Given the description of an element on the screen output the (x, y) to click on. 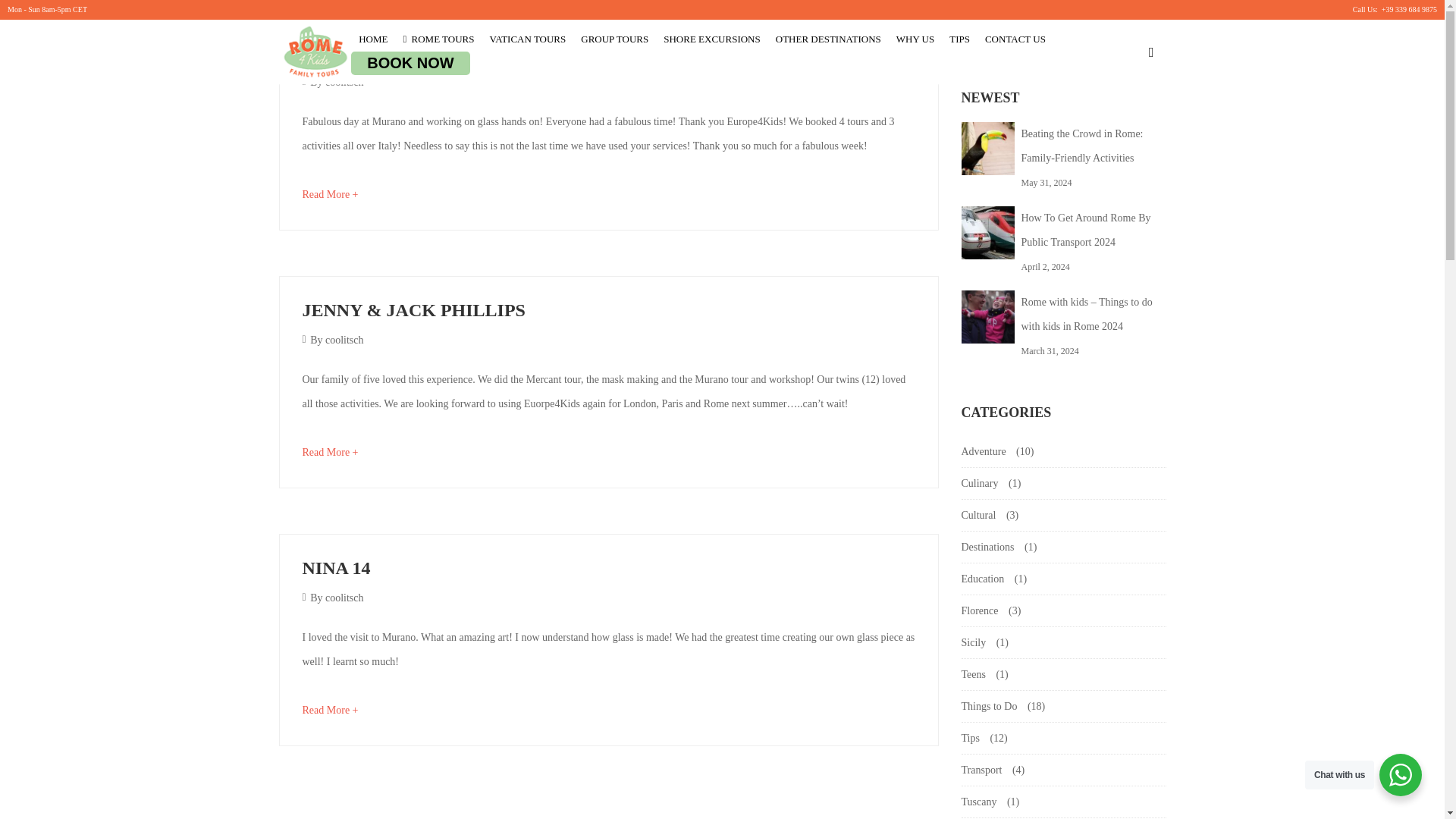
ROME TOURS (438, 39)
coolitsch (344, 81)
WHY US (915, 39)
HOME (372, 39)
Posts by coolitsch (344, 81)
Posts by coolitsch (344, 339)
VATICAN TOURS (527, 39)
coolitsch (344, 339)
Posts by coolitsch (344, 597)
BOOK NOW (409, 63)
OTHER DESTINATIONS (828, 39)
SHORE EXCURSIONS (712, 39)
TIPS (959, 39)
CONTACT US (1014, 39)
GROUP TOURS (614, 39)
